Given the description of an element on the screen output the (x, y) to click on. 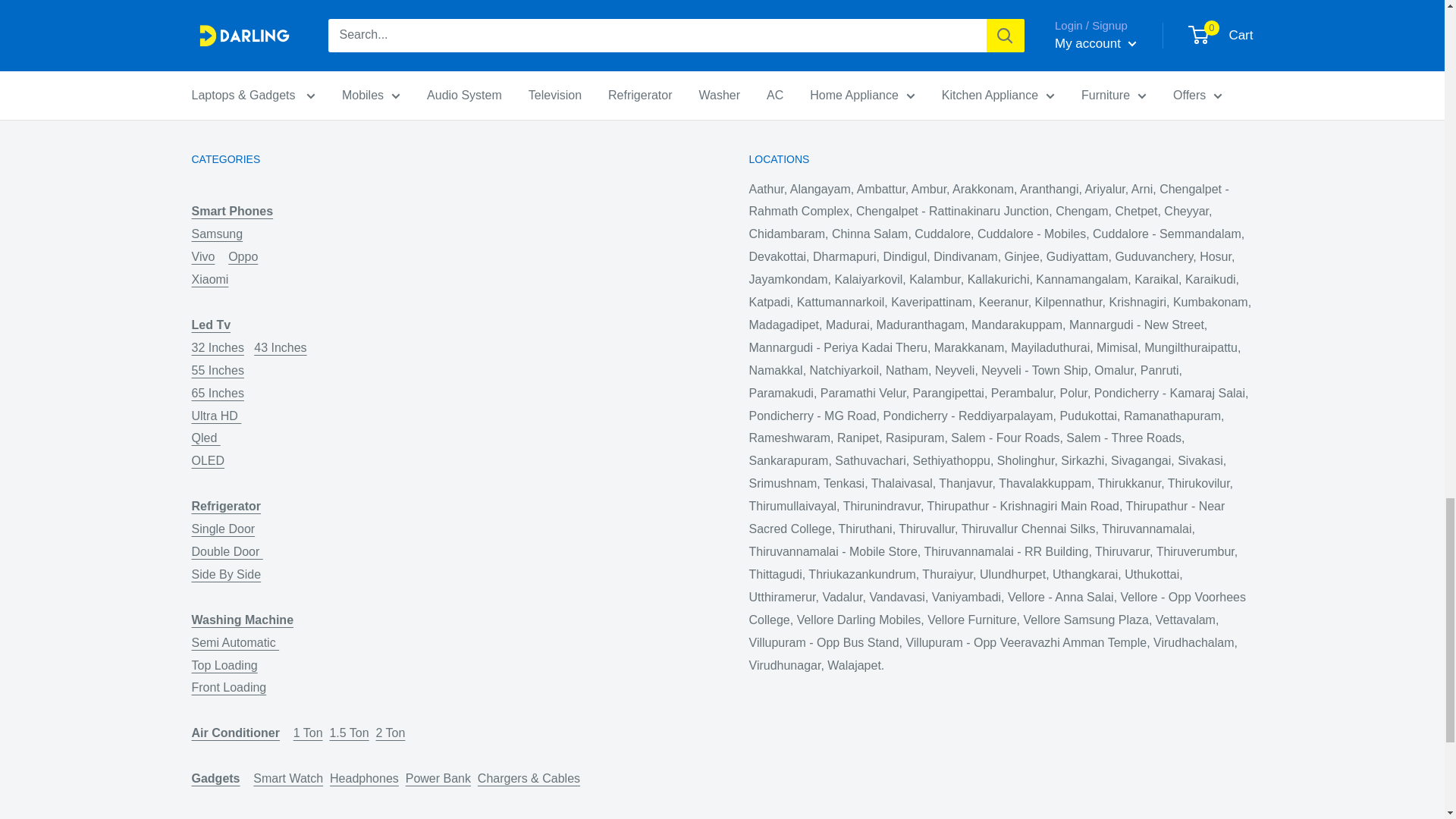
43 Inch led tv (279, 347)
Samsung Smart Phones (241, 244)
32 Inch Led TV (218, 358)
Oppo Mobiles (242, 256)
tel:7558149111 (1129, 7)
tel:04162221122 (1050, 7)
55 Inch led tv (252, 381)
Vivo Mobiles (220, 267)
Television (210, 335)
Xiaomi Mobiles (228, 290)
Mobiles (231, 222)
